Given the description of an element on the screen output the (x, y) to click on. 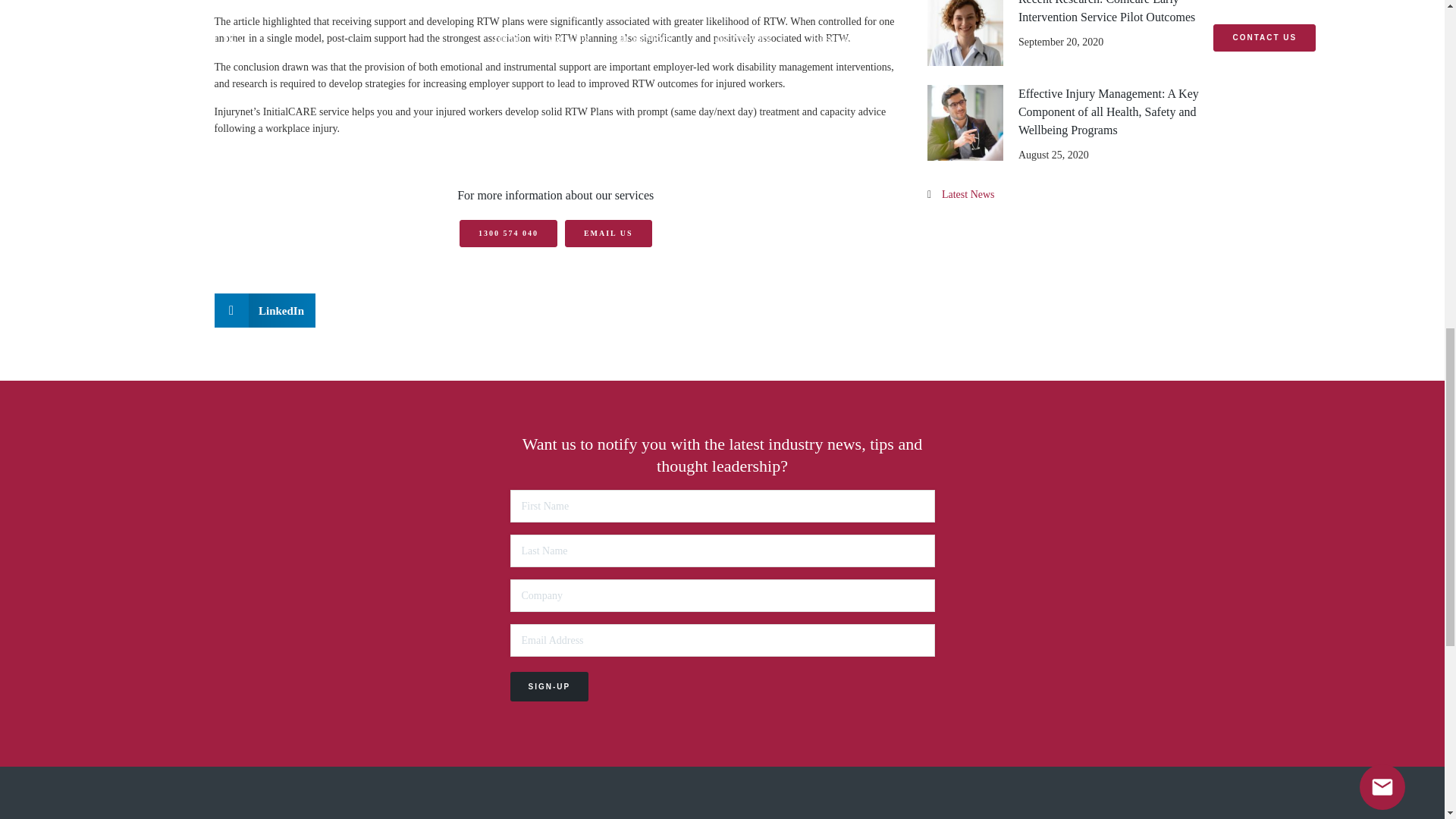
SIGN-UP (548, 686)
1300 574 040 (508, 233)
EMAIL US (608, 233)
